Given the description of an element on the screen output the (x, y) to click on. 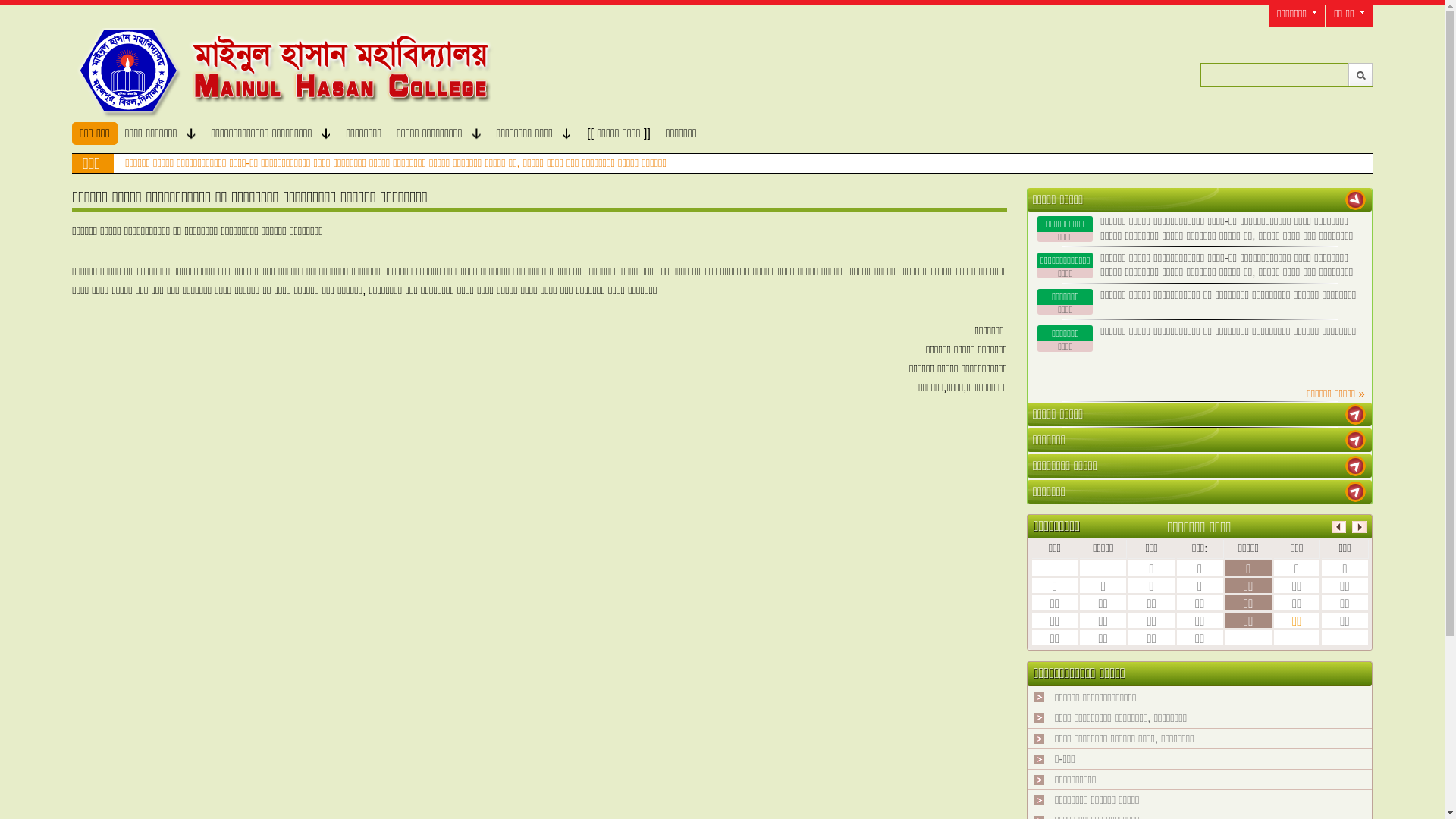
Submit Element type: text (1360, 74)
  Element type: text (1355, 199)
  Element type: text (1355, 439)
  Element type: text (1355, 465)
  Element type: text (1355, 491)
  Element type: text (1355, 414)
